Given the description of an element on the screen output the (x, y) to click on. 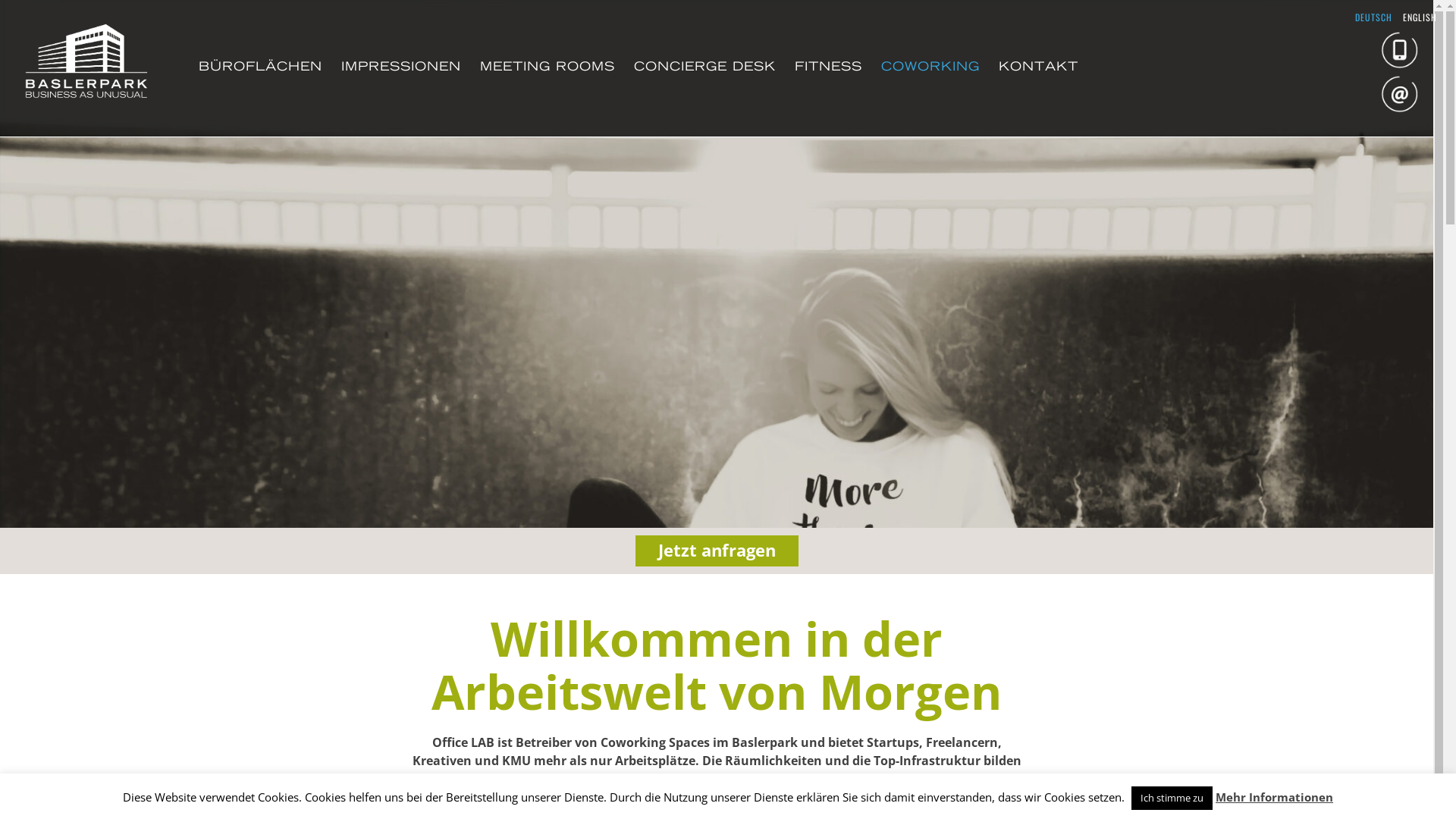
CONCIERGE DESK Element type: text (704, 66)
IMPRESSIONEN Element type: text (401, 66)
Ich stimme zu Element type: text (1171, 797)
COWORKING Element type: text (930, 66)
FITNESS Element type: text (828, 66)
MEETING ROOMS Element type: text (547, 66)
Mehr Informationen Element type: text (1274, 796)
ENGLISH Element type: text (1419, 16)
DEUTSCH Element type: text (1373, 16)
KONTAKT Element type: text (1038, 66)
